Given the description of an element on the screen output the (x, y) to click on. 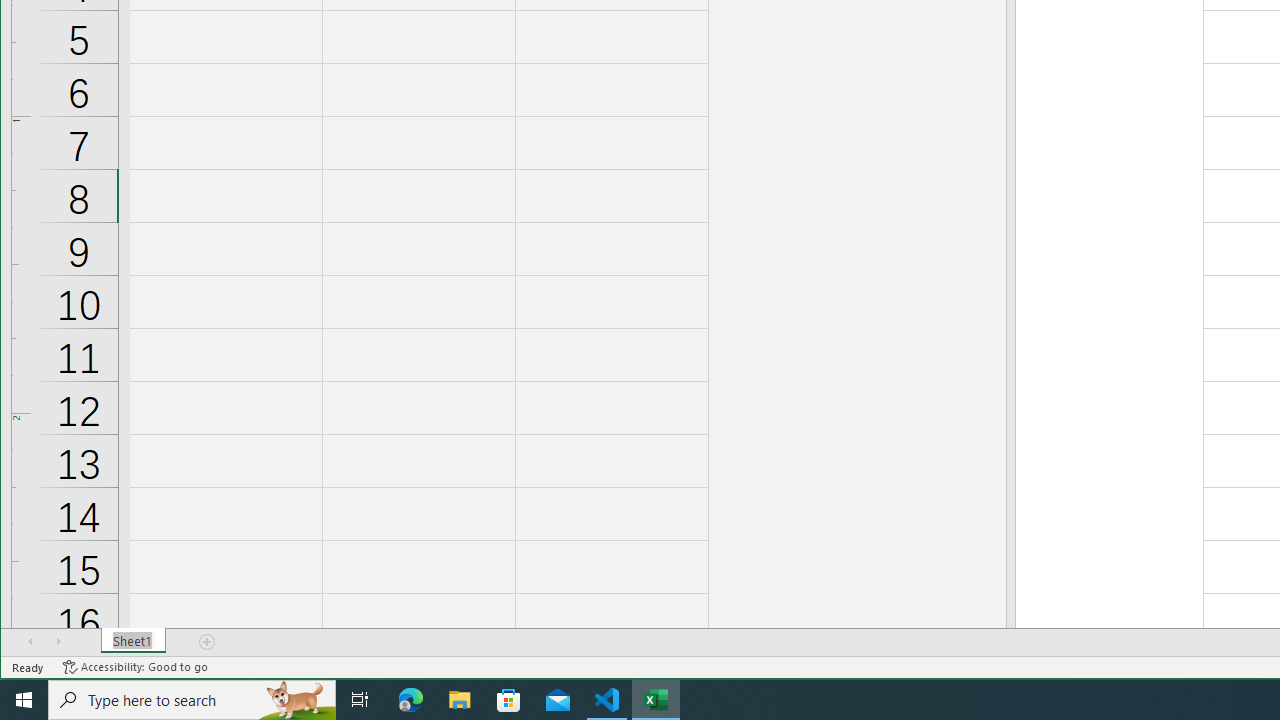
Start (24, 699)
